Given the description of an element on the screen output the (x, y) to click on. 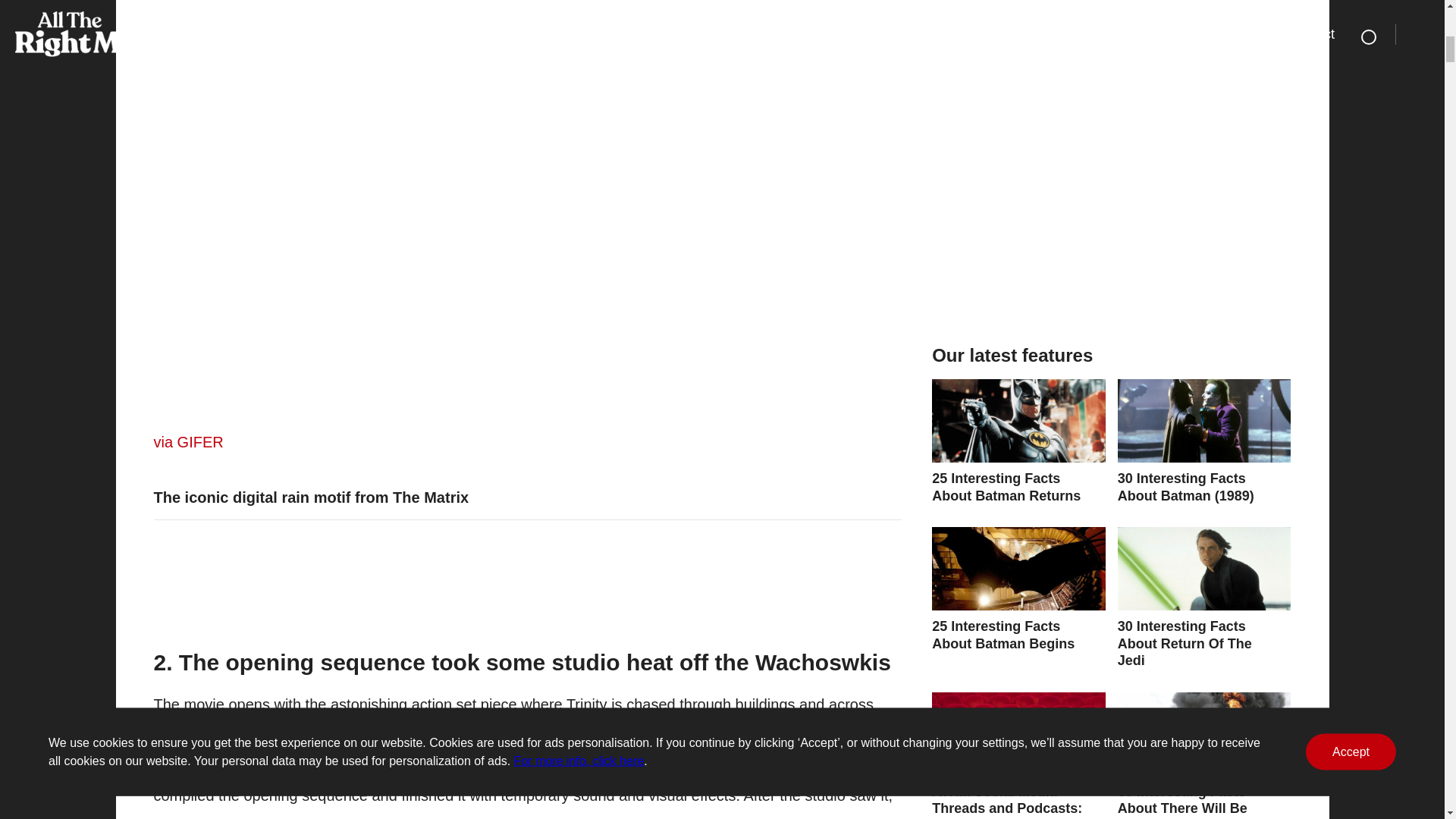
Advertisement (1110, 210)
via GIFER (187, 442)
ATRM Social Media Threads and Podcasts: How We Create Them (1018, 755)
30 Interesting Facts About Return Of The Jedi (1204, 598)
25 Interesting Facts About Batman Begins (1018, 589)
25 Interesting Facts About Batman Returns (1018, 441)
30 Interesting Facts About There Will Be Blood (1204, 755)
